Given the description of an element on the screen output the (x, y) to click on. 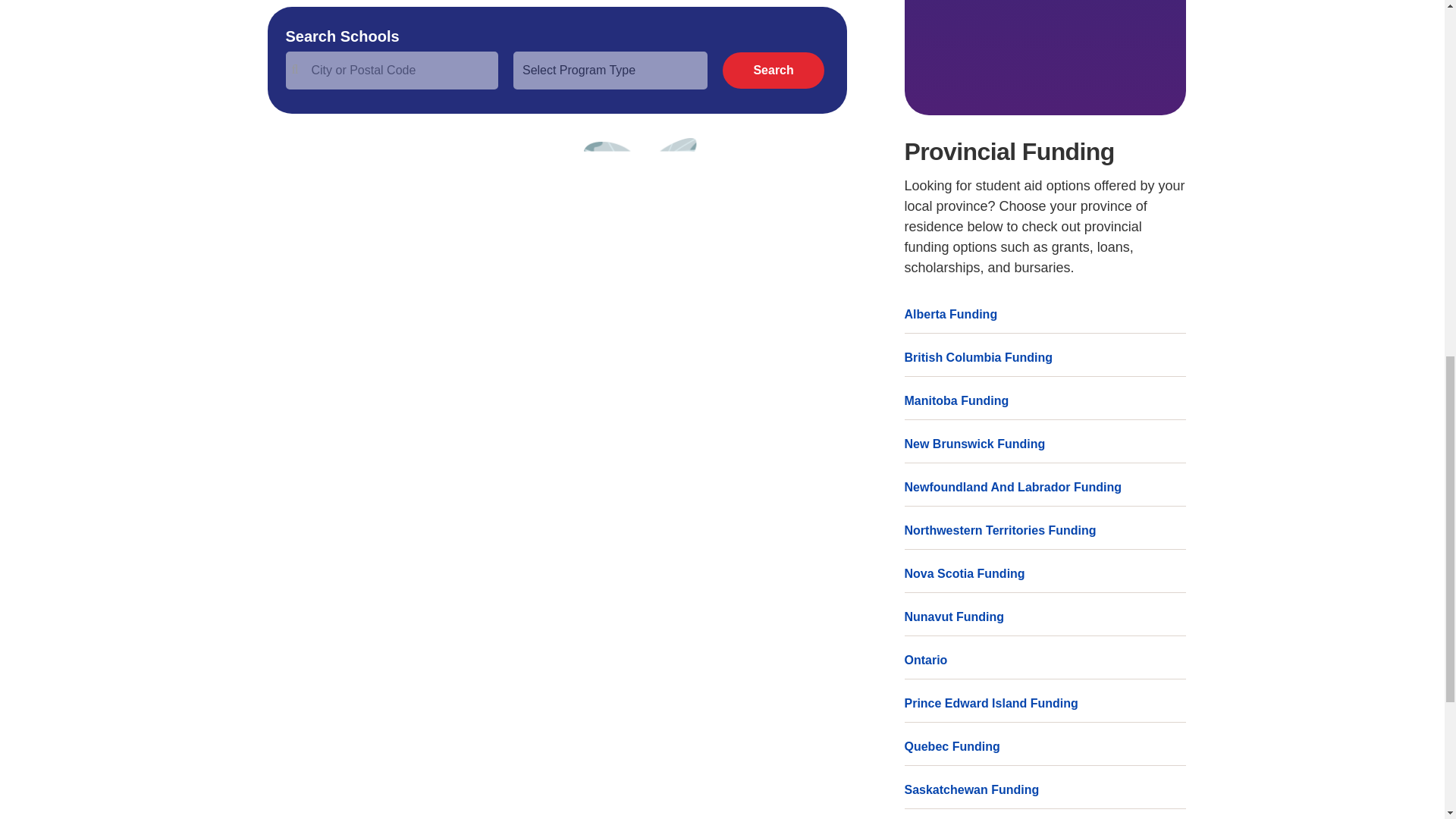
Prince Edward Island Funding (1045, 703)
Nova Scotia Funding (1045, 574)
Saskatchewan Funding (1045, 790)
Alberta Funding (1045, 314)
Ontario (1045, 660)
Newfoundland And Labrador Funding (1045, 487)
Quebec Funding (1045, 746)
Manitoba Funding (1045, 401)
Yukon Funding (1045, 816)
Nunavut Funding (1045, 616)
